Given the description of an element on the screen output the (x, y) to click on. 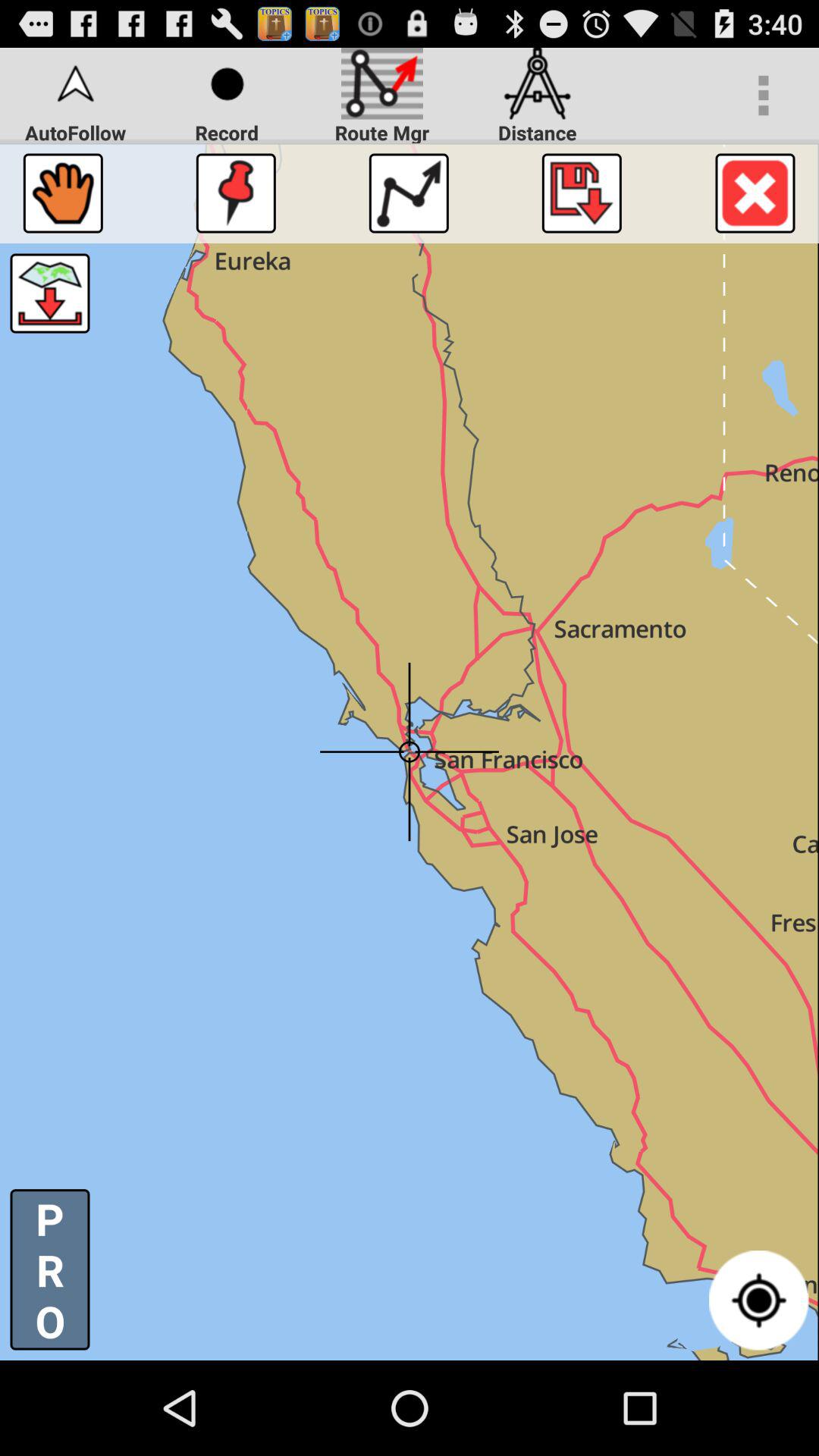
open item above the p
r
o item (49, 293)
